Given the description of an element on the screen output the (x, y) to click on. 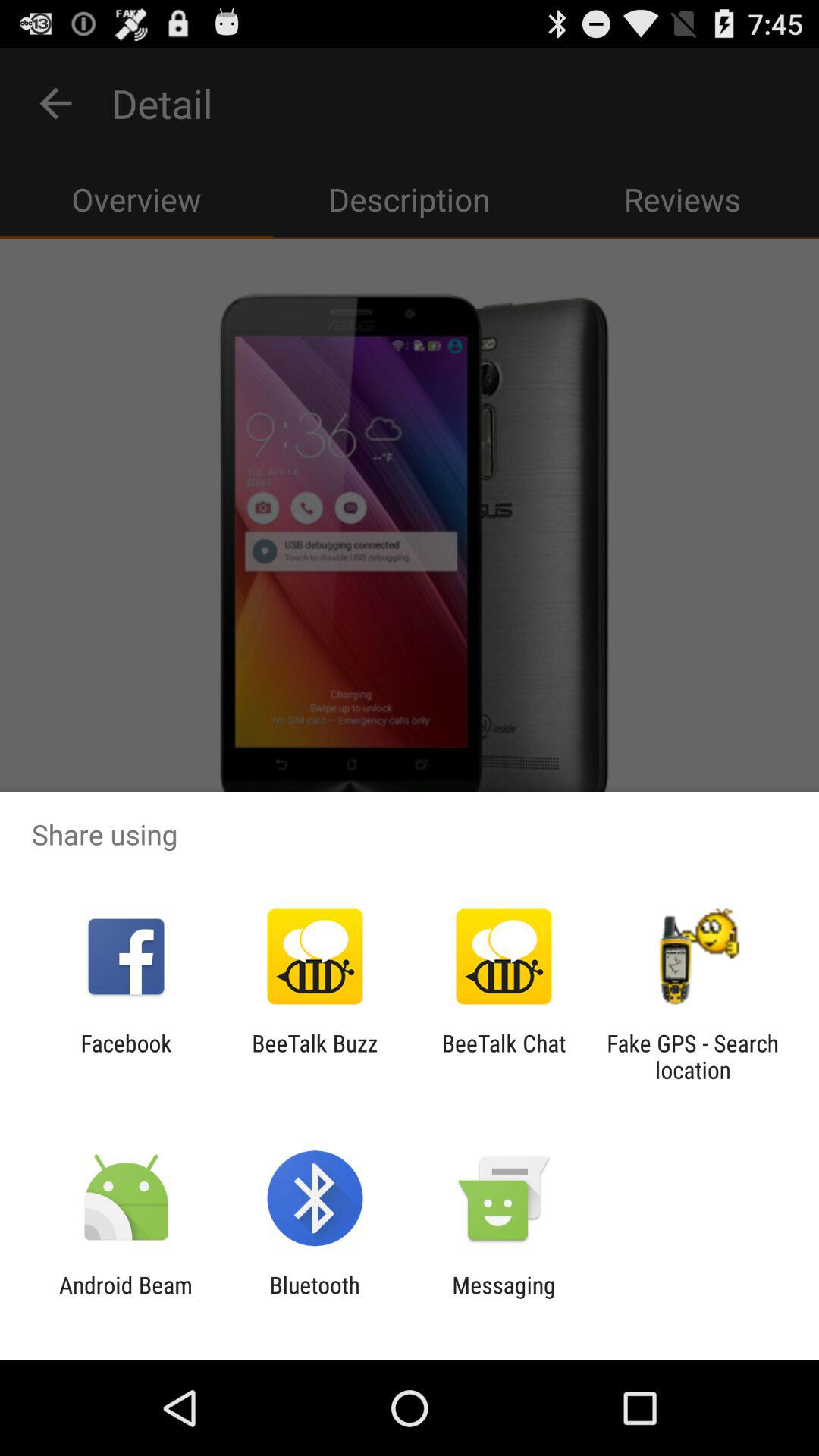
turn on the app next to beetalk buzz app (503, 1056)
